Given the description of an element on the screen output the (x, y) to click on. 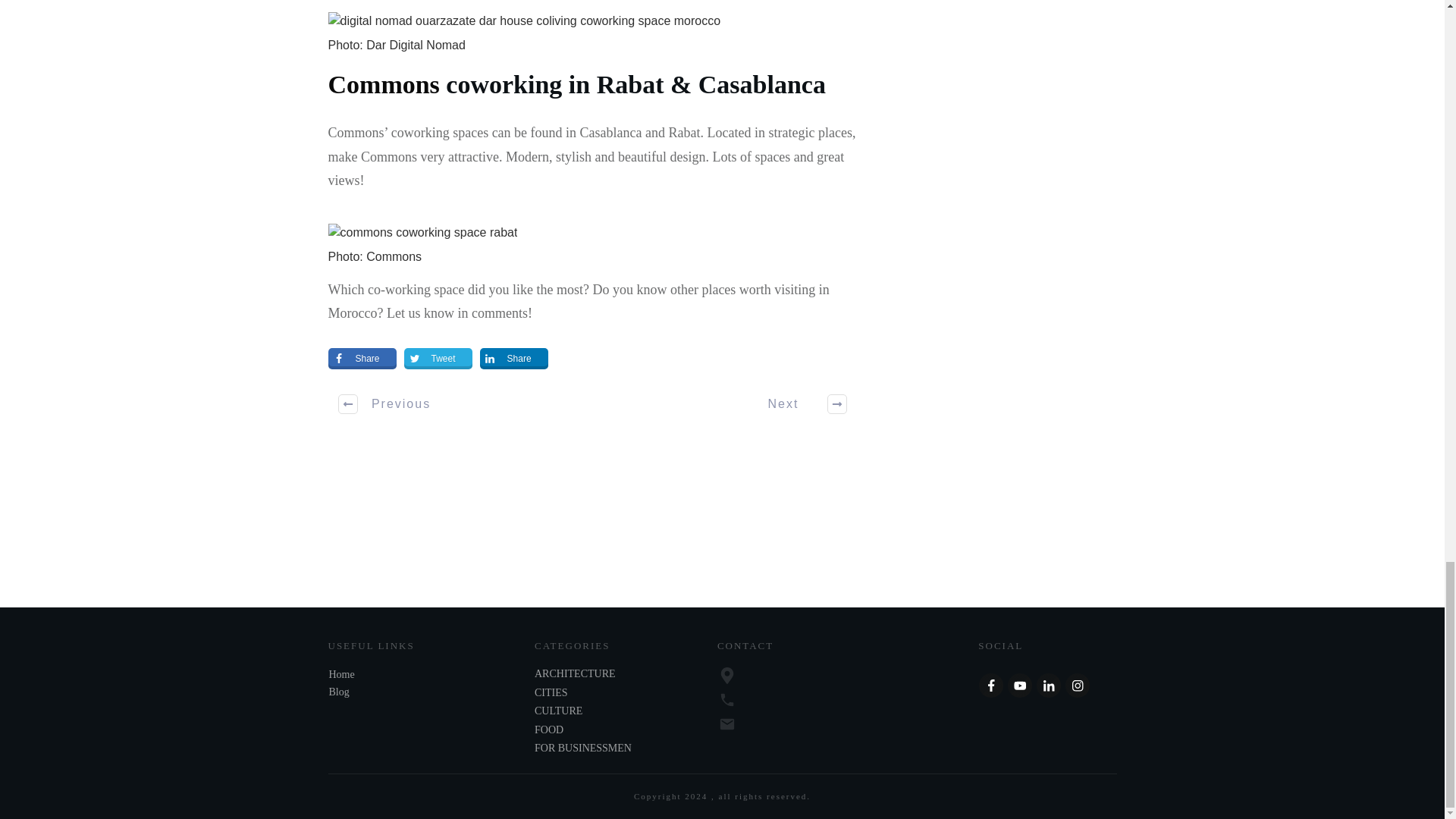
Commons (383, 84)
Previous (385, 403)
Share (514, 358)
Share (361, 358)
Tweet (437, 358)
Next (798, 403)
